Given the description of an element on the screen output the (x, y) to click on. 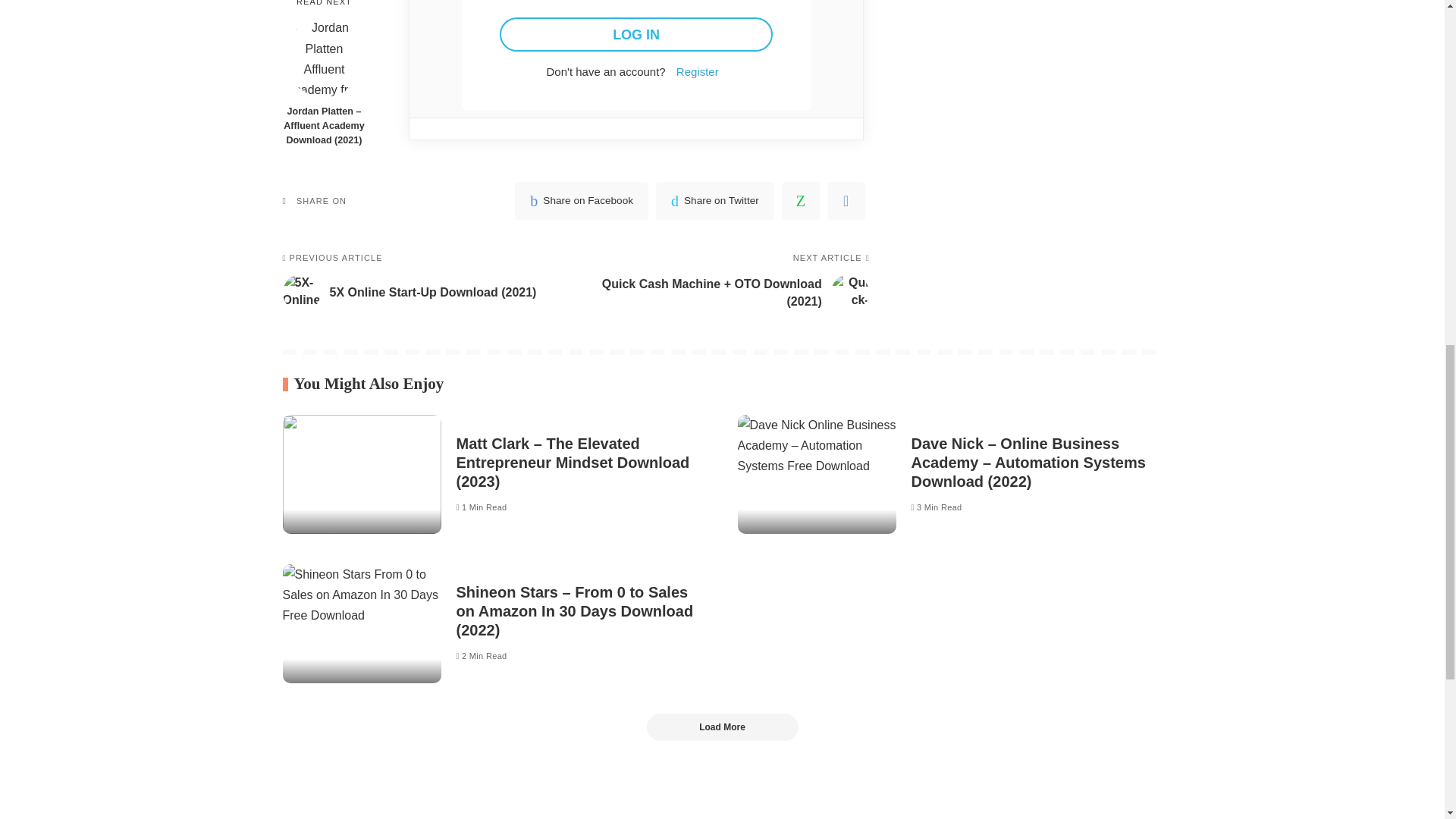
Log In (636, 34)
WhatsApp (800, 200)
Facebook (581, 200)
Telegram (845, 200)
Twitter (715, 200)
